Given the description of an element on the screen output the (x, y) to click on. 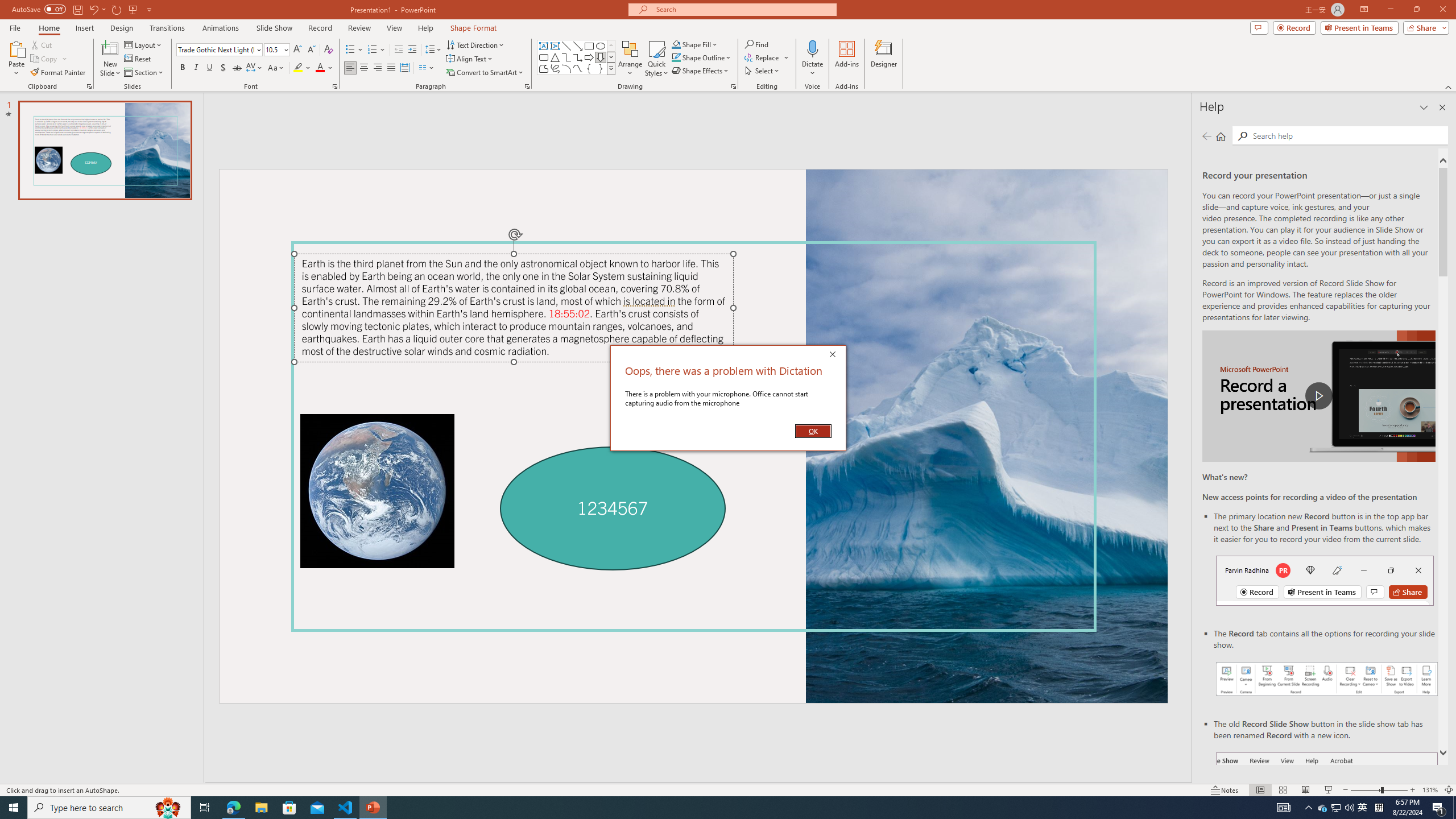
Insert (83, 28)
Line Arrow (577, 45)
Notes  (1225, 790)
Decrease Font Size (310, 49)
Record your presentations screenshot one (1326, 678)
Present in Teams (1359, 27)
Shadow (223, 67)
Left Brace (589, 68)
Class: NetUIImage (610, 68)
Numbering (372, 49)
Record button in top bar (1324, 580)
